Given the description of an element on the screen output the (x, y) to click on. 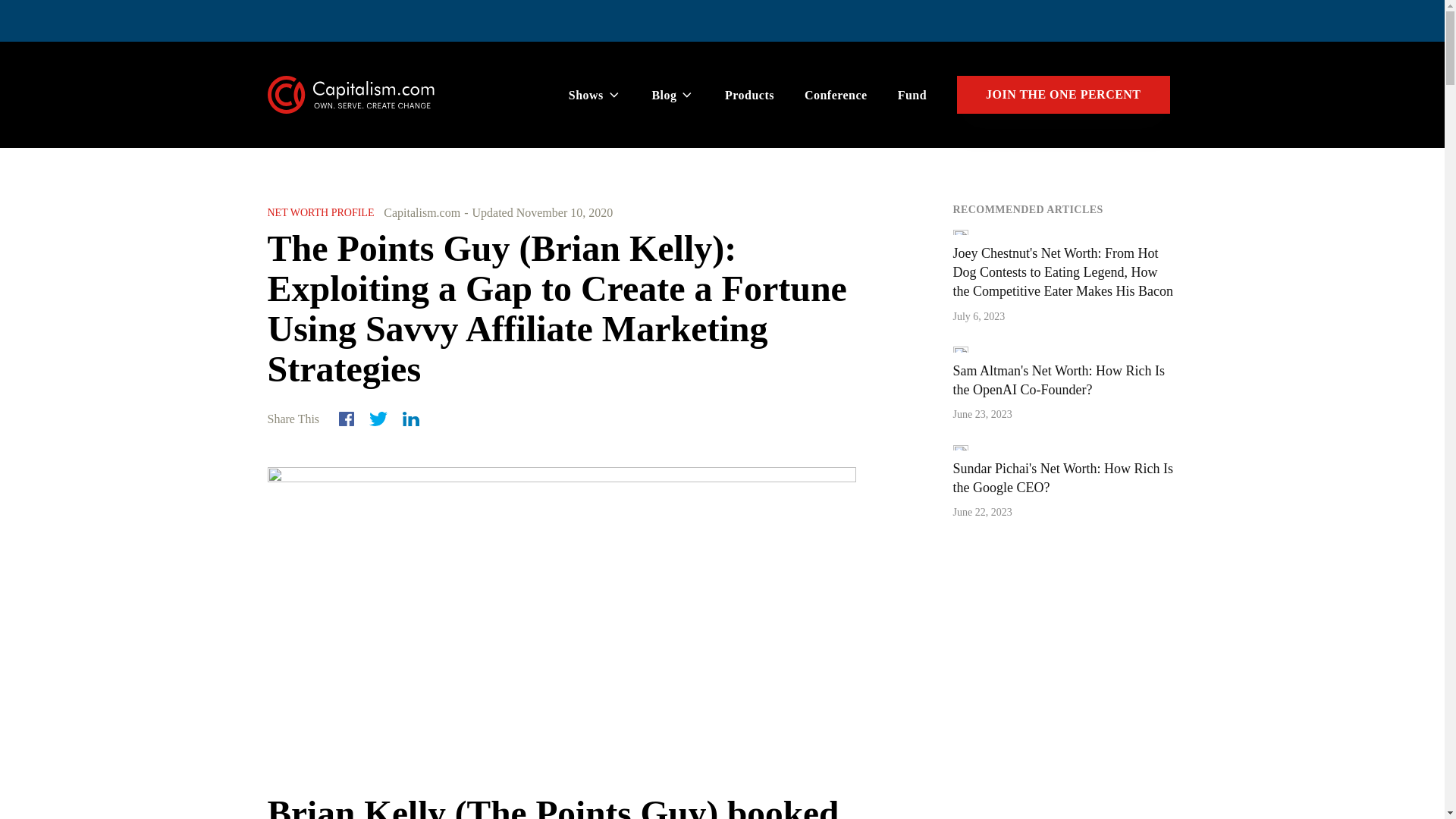
Conference (835, 95)
NET WORTH PROFILE (320, 212)
Fund (912, 95)
Shows (595, 95)
JOIN THE ONE PERCENT (1062, 94)
Blog (673, 95)
Products (749, 95)
